Given the description of an element on the screen output the (x, y) to click on. 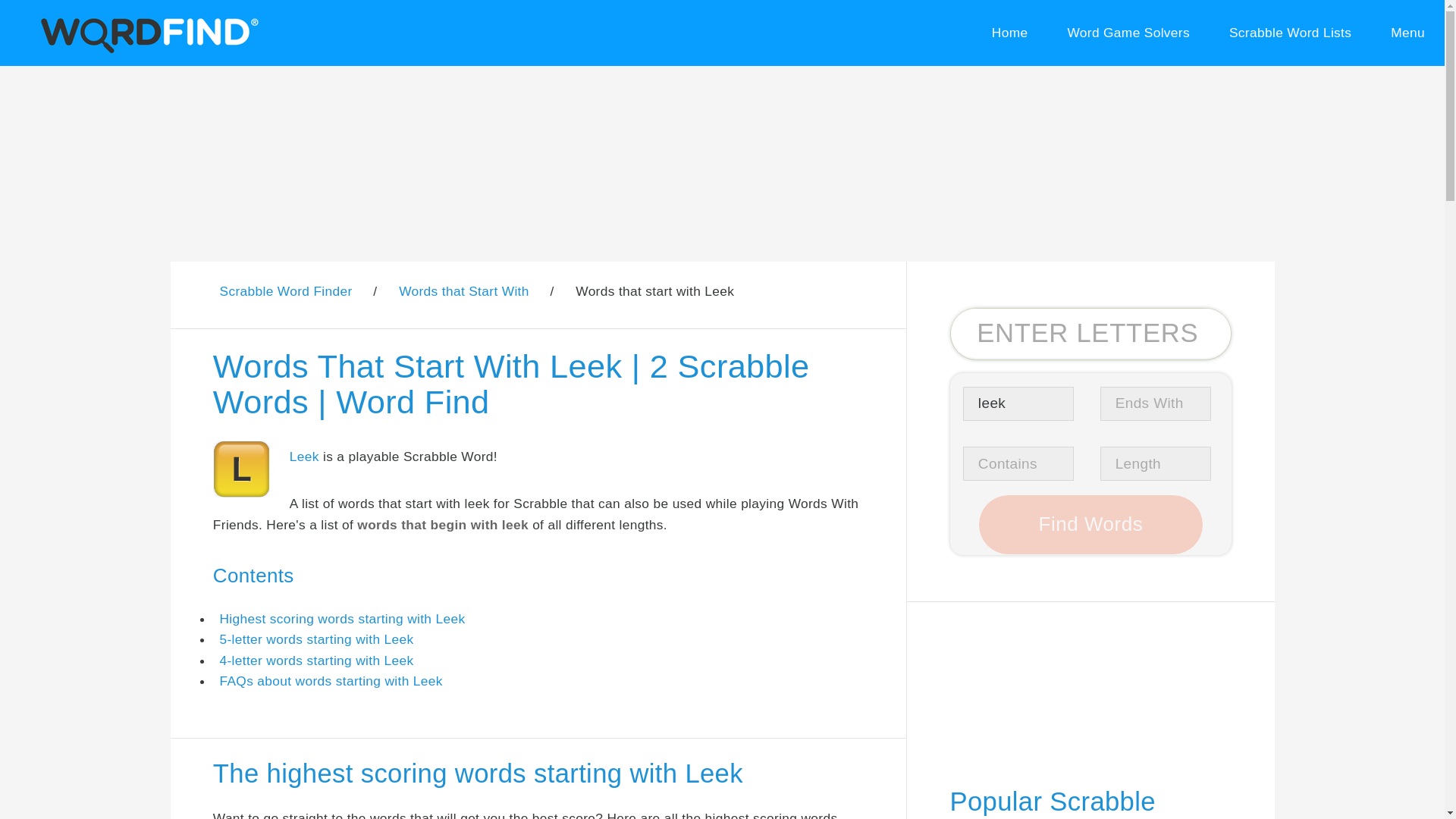
Find Words (1091, 525)
Scrabble Word Finder (285, 290)
Leek (303, 456)
Word Game Solvers (1128, 33)
Scrabble Word Lists menu (1290, 33)
Scrabble Word Lists (1290, 33)
Word Game Solvers menu (1128, 33)
Home (1009, 33)
leek (1018, 403)
Return Home (1009, 33)
wordfind.com logo (146, 32)
Return Home to Wordfind.com (146, 50)
5-letter words starting with Leek (316, 639)
FAQs about words starting with Leek (330, 680)
4-letter words starting with Leek (316, 660)
